Given the description of an element on the screen output the (x, y) to click on. 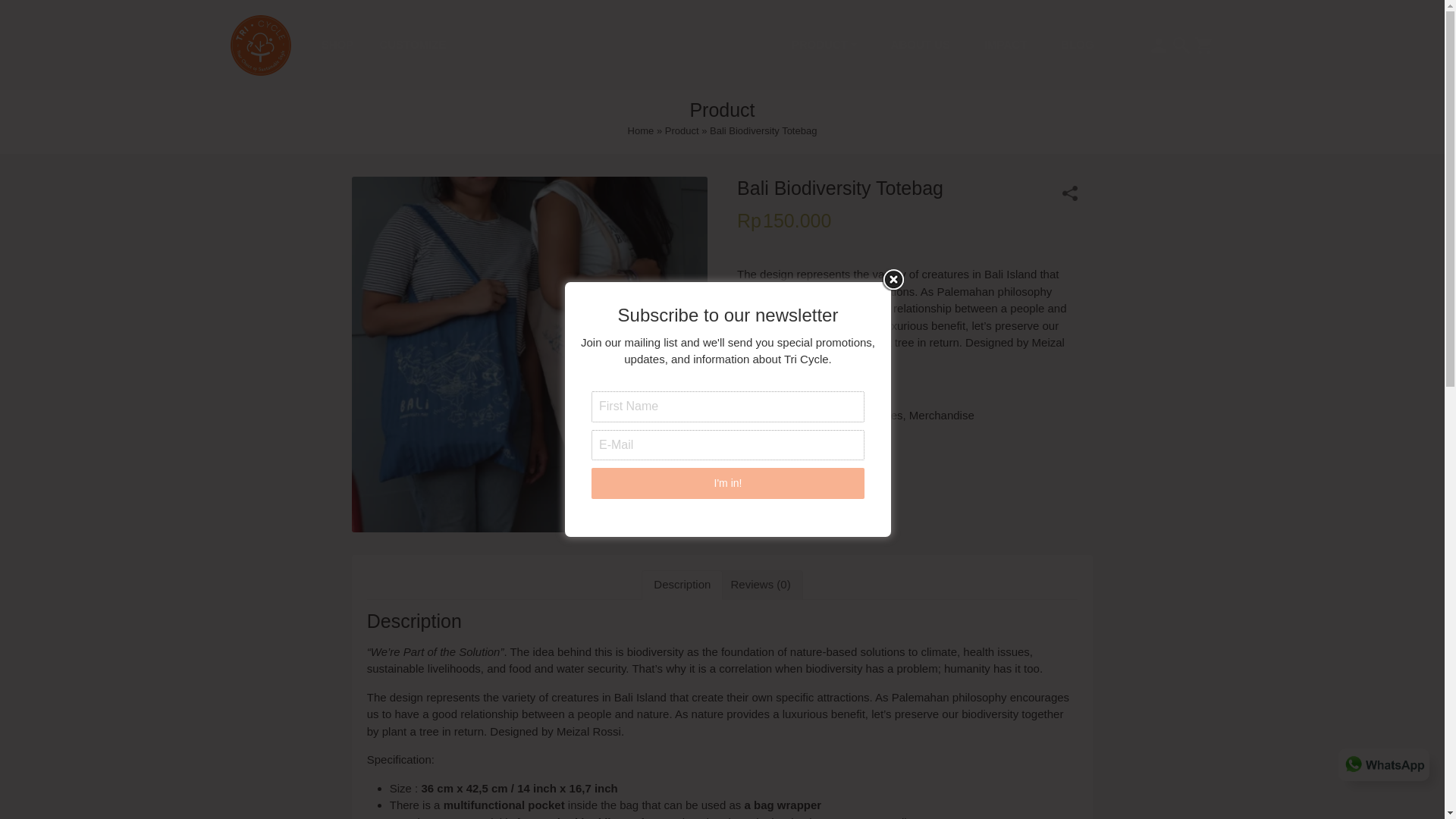
SHOP (337, 43)
Biodiversity Totebag (529, 353)
BLOG (1076, 45)
PRODUCT (823, 45)
Close (893, 279)
IMPACT (1004, 45)
CUSTOMIZE (412, 43)
ABOUT US (919, 45)
